Given the description of an element on the screen output the (x, y) to click on. 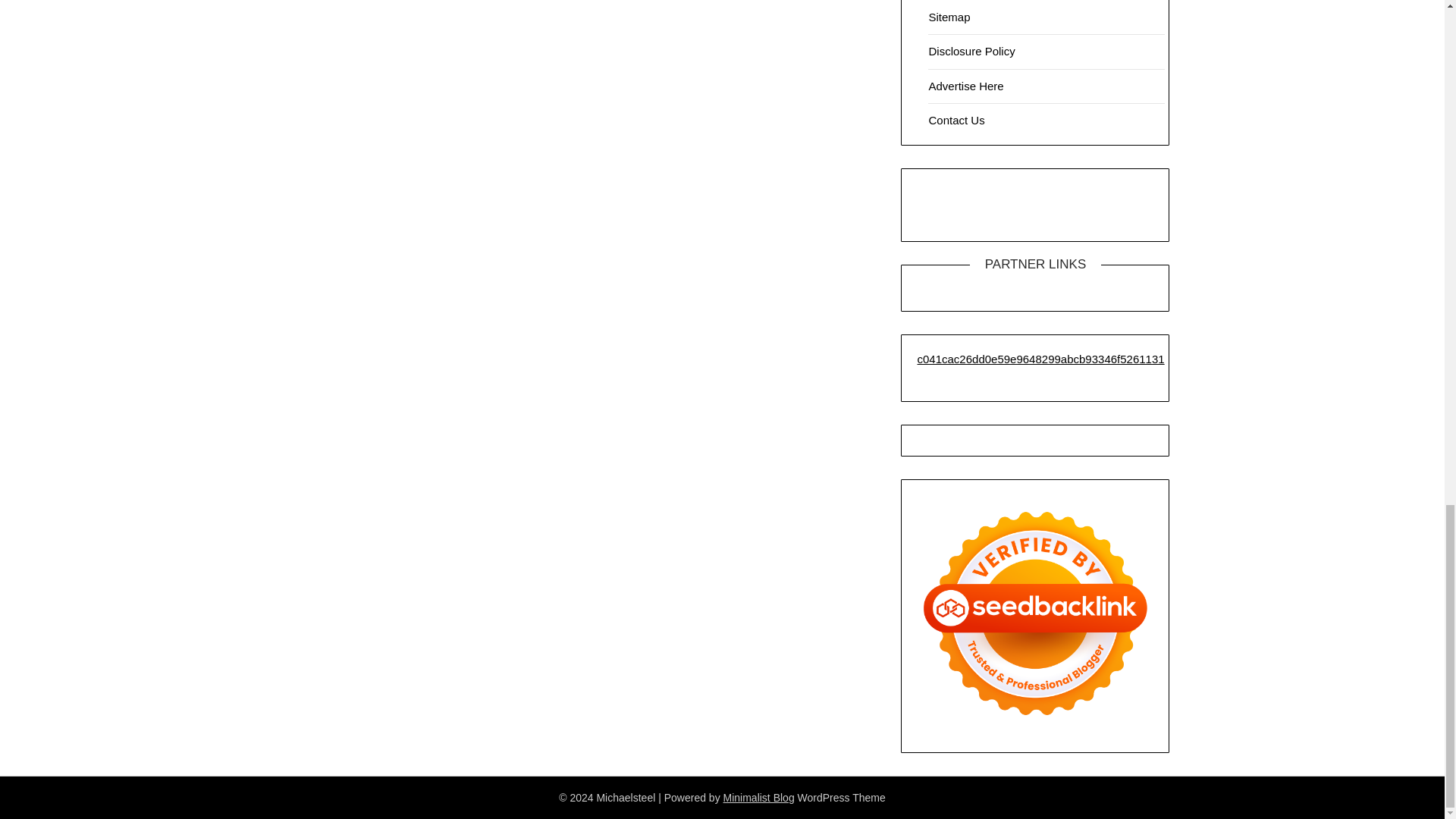
Seedbacklink (1035, 613)
